Given the description of an element on the screen output the (x, y) to click on. 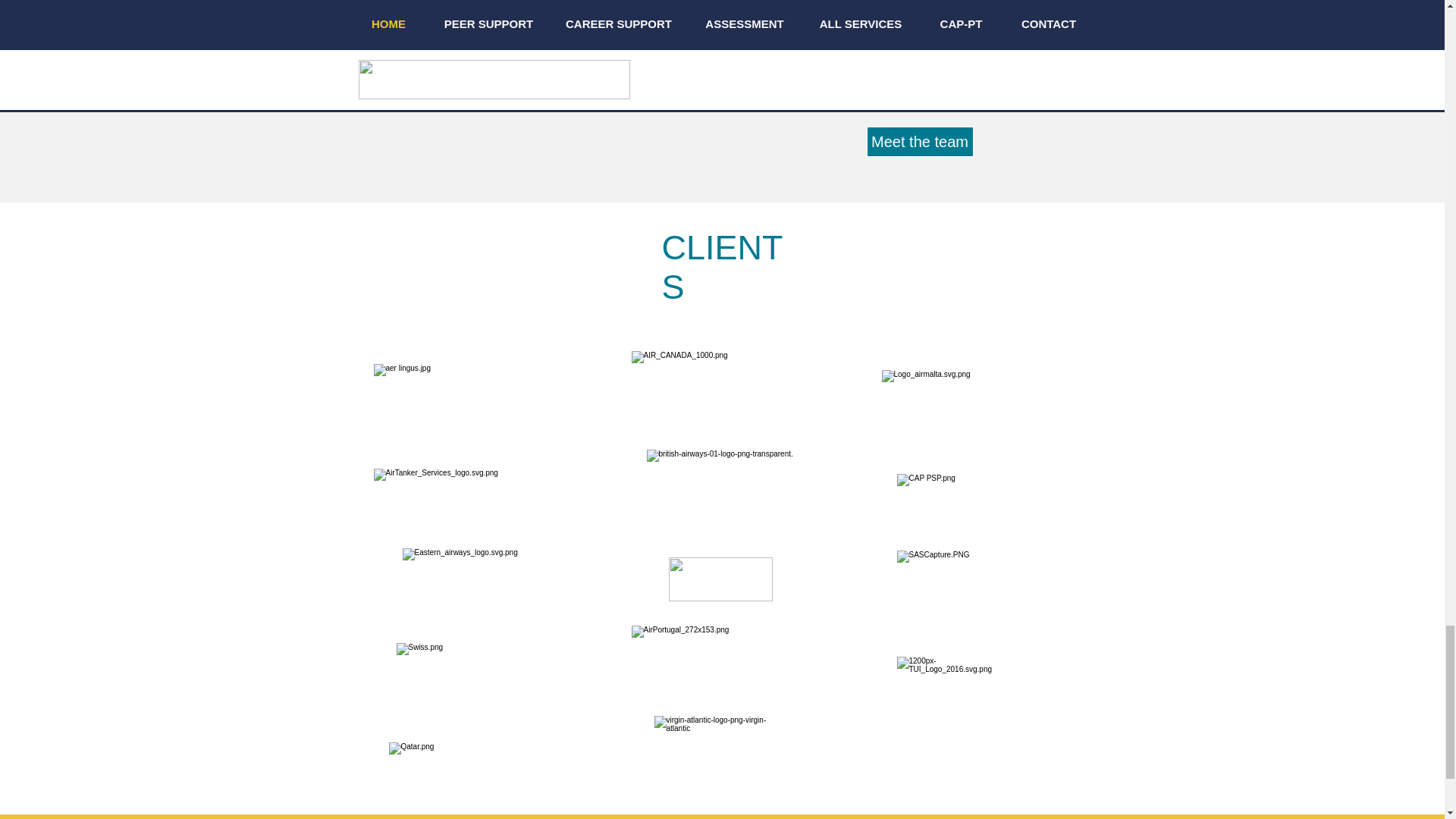
Training (534, 51)
Meet the team (919, 141)
